Given the description of an element on the screen output the (x, y) to click on. 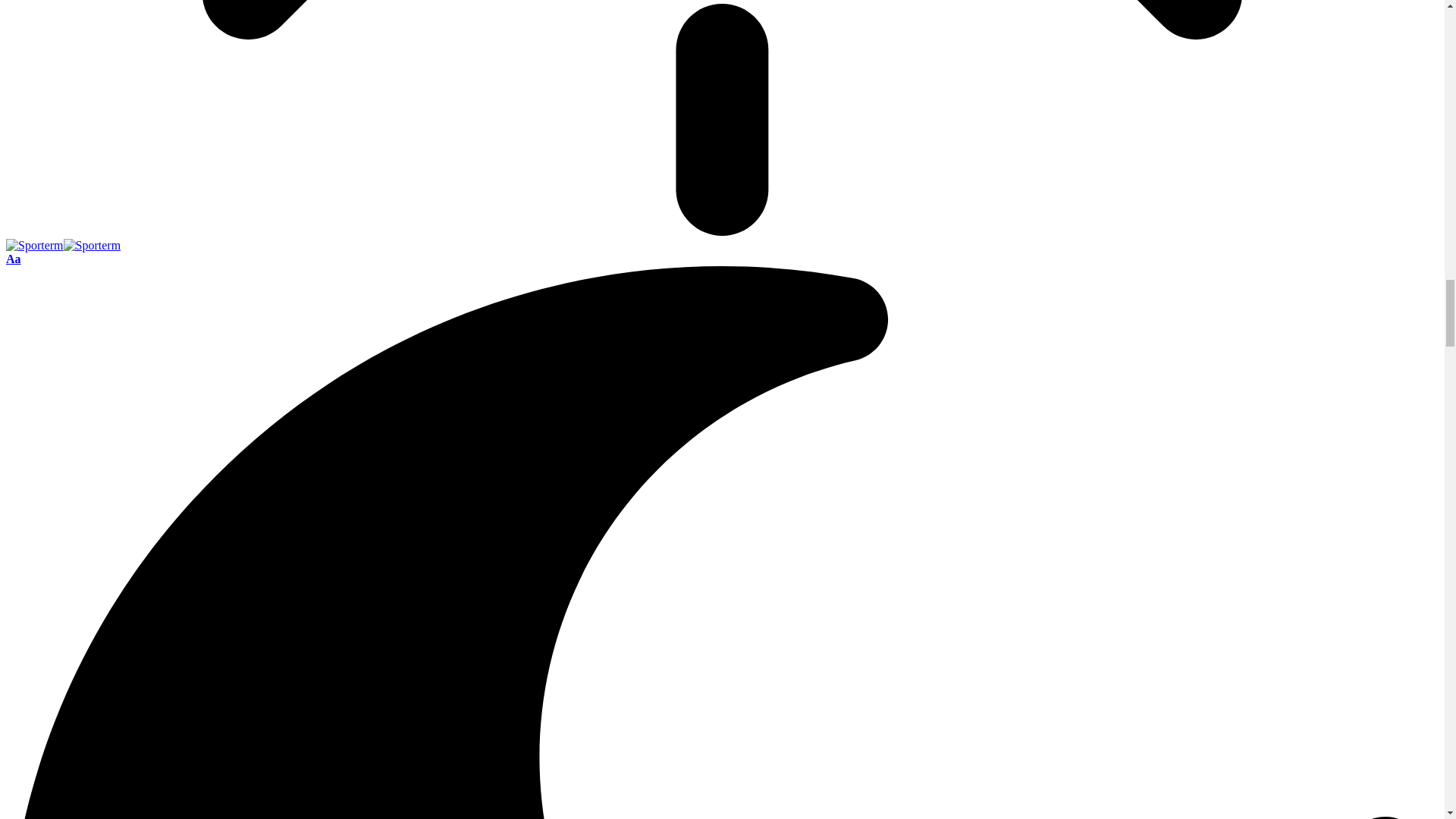
Sporterm (62, 245)
